Given the description of an element on the screen output the (x, y) to click on. 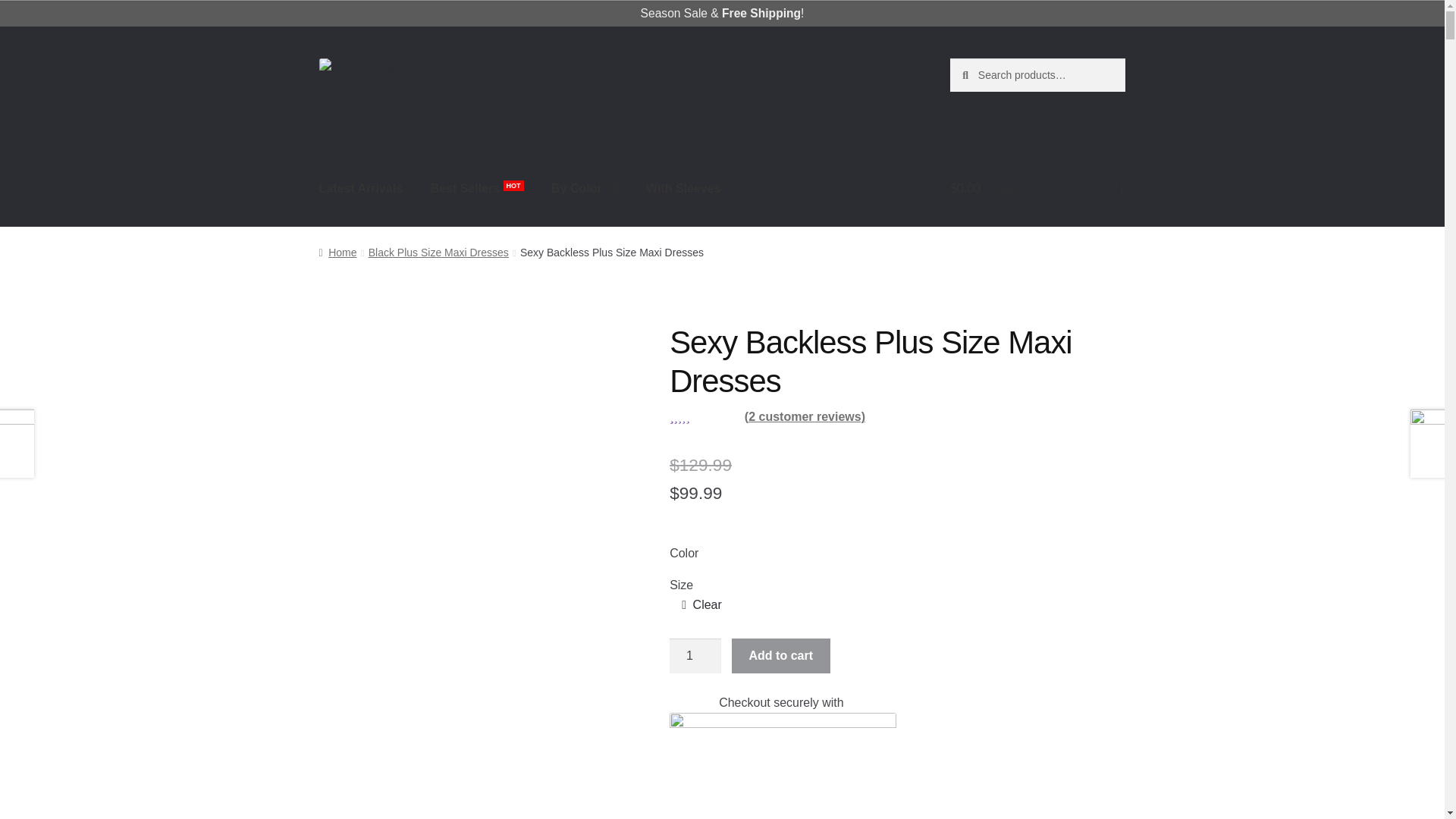
View your shopping cart (1037, 188)
Latest Arrivals (360, 188)
Best Sellers HOT (477, 188)
With Sleeves (683, 188)
Clear (701, 605)
Add to cart (780, 655)
1 (694, 655)
By Color (584, 188)
Home (337, 252)
Black Plus Size Maxi Dresses (438, 252)
